Given the description of an element on the screen output the (x, y) to click on. 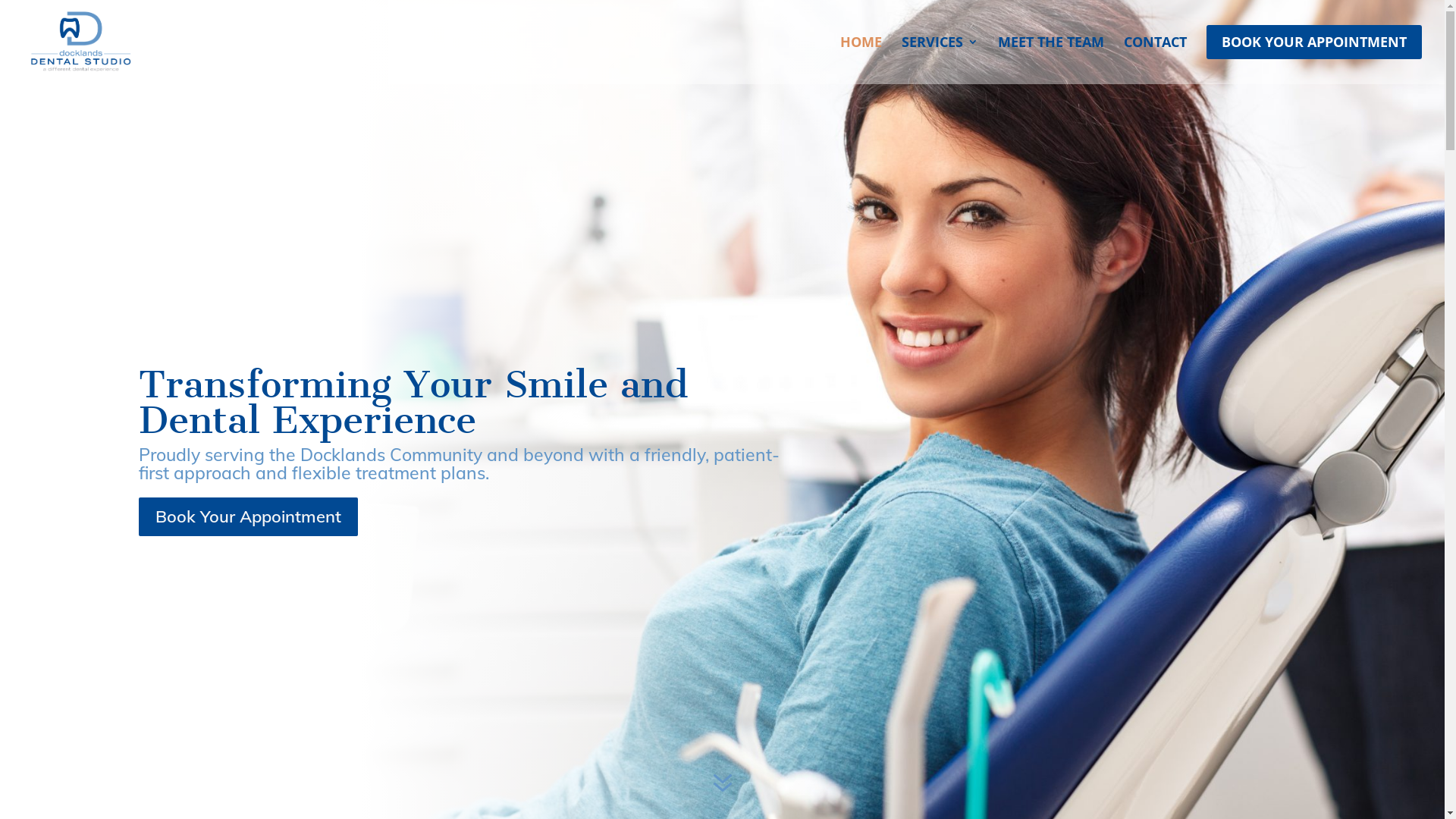
Book Your Appointment Element type: text (247, 516)
BOOK YOUR APPOINTMENT Element type: text (1313, 54)
7 Element type: text (721, 783)
SERVICES Element type: text (939, 54)
MEET THE TEAM Element type: text (1050, 54)
HOME Element type: text (860, 54)
CONTACT Element type: text (1154, 54)
